Given the description of an element on the screen output the (x, y) to click on. 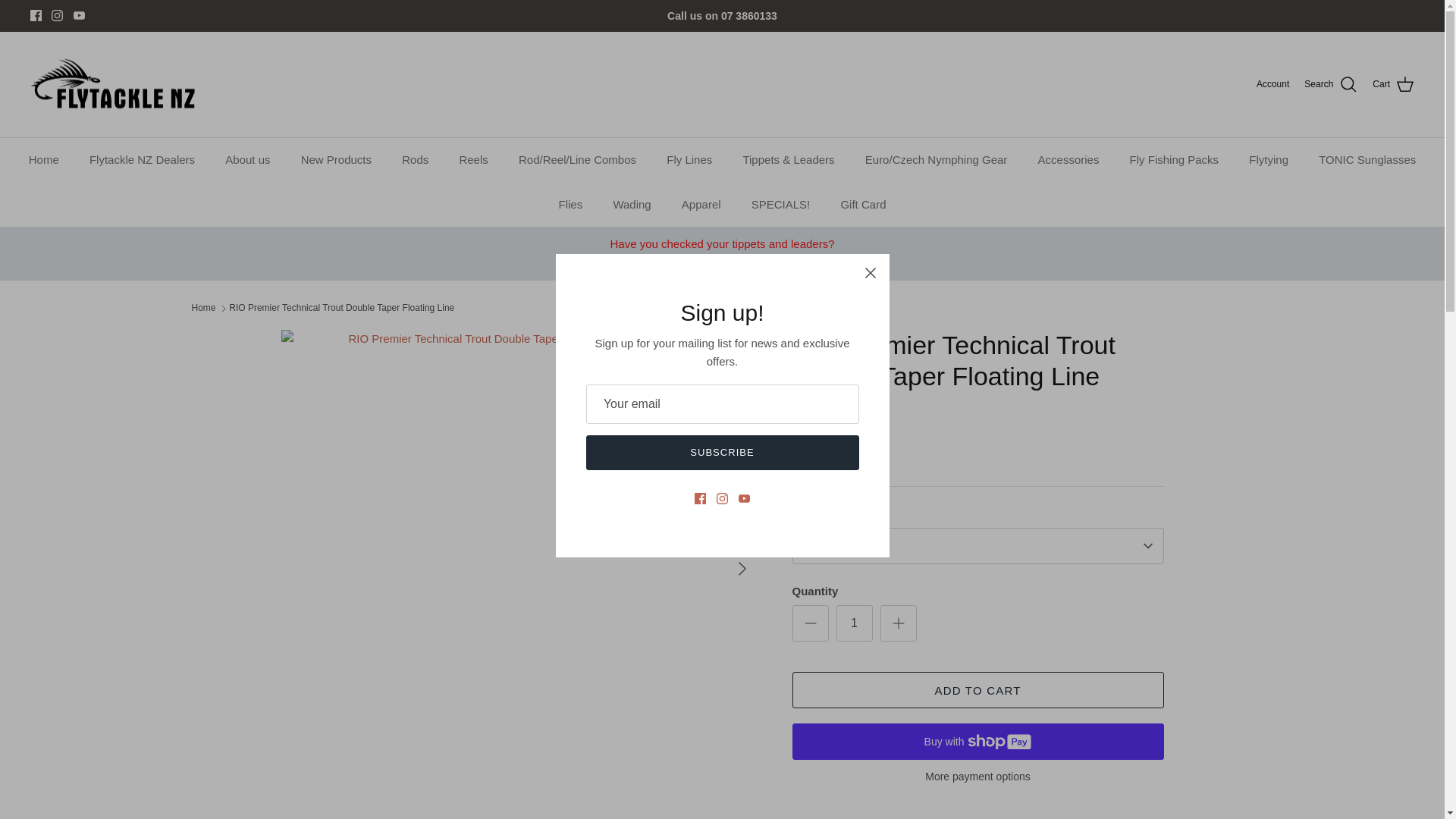
Youtube (79, 15)
Facebook (36, 15)
Youtube (79, 15)
Facebook (36, 15)
Search (1330, 85)
Home (43, 160)
RIGHT (741, 568)
Flytackle NZ (113, 84)
About us (247, 160)
Cart (1393, 85)
Account (1272, 83)
Instagram (56, 15)
Minus (809, 623)
Instagram (56, 15)
Plus (897, 623)
